Given the description of an element on the screen output the (x, y) to click on. 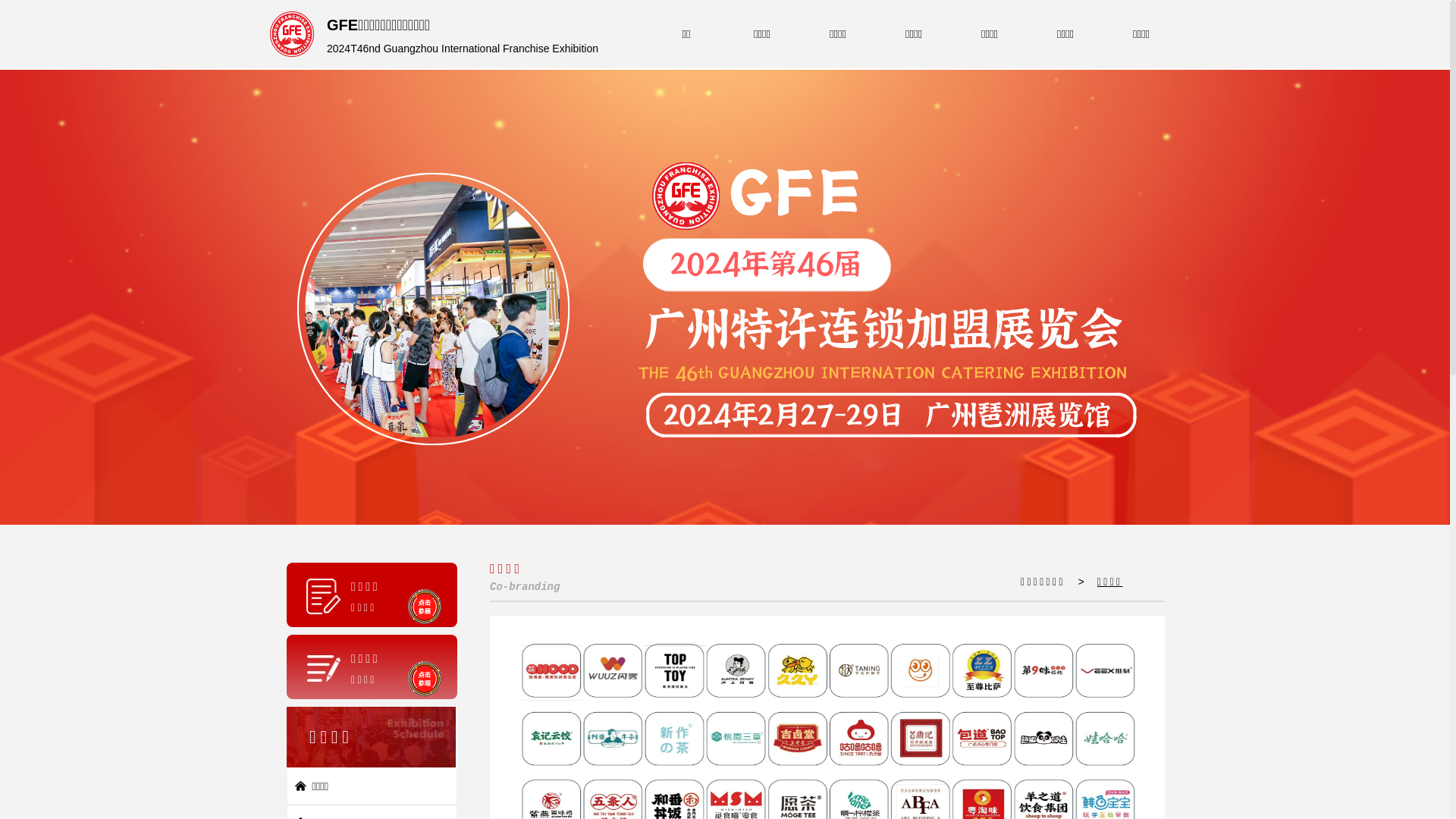
2024T46nd Guangzhou International Franchise Exhibition Element type: text (462, 49)
